Given the description of an element on the screen output the (x, y) to click on. 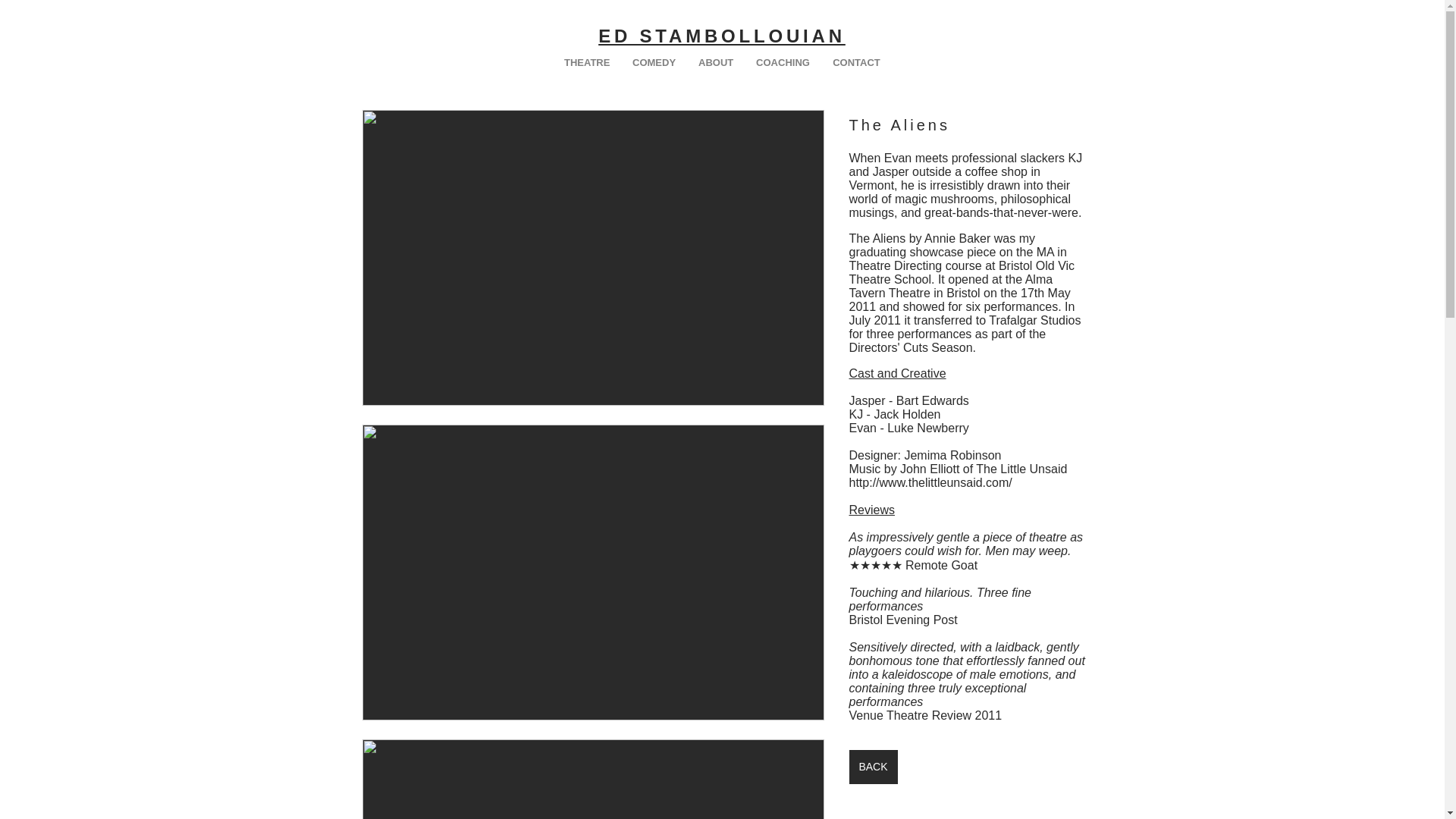
COMEDY (654, 61)
THEATRE (587, 61)
ABOUT (715, 61)
ED STAMBOLLOUIAN (721, 35)
COACHING (782, 61)
BACK (873, 766)
CONTACT (856, 61)
